Given the description of an element on the screen output the (x, y) to click on. 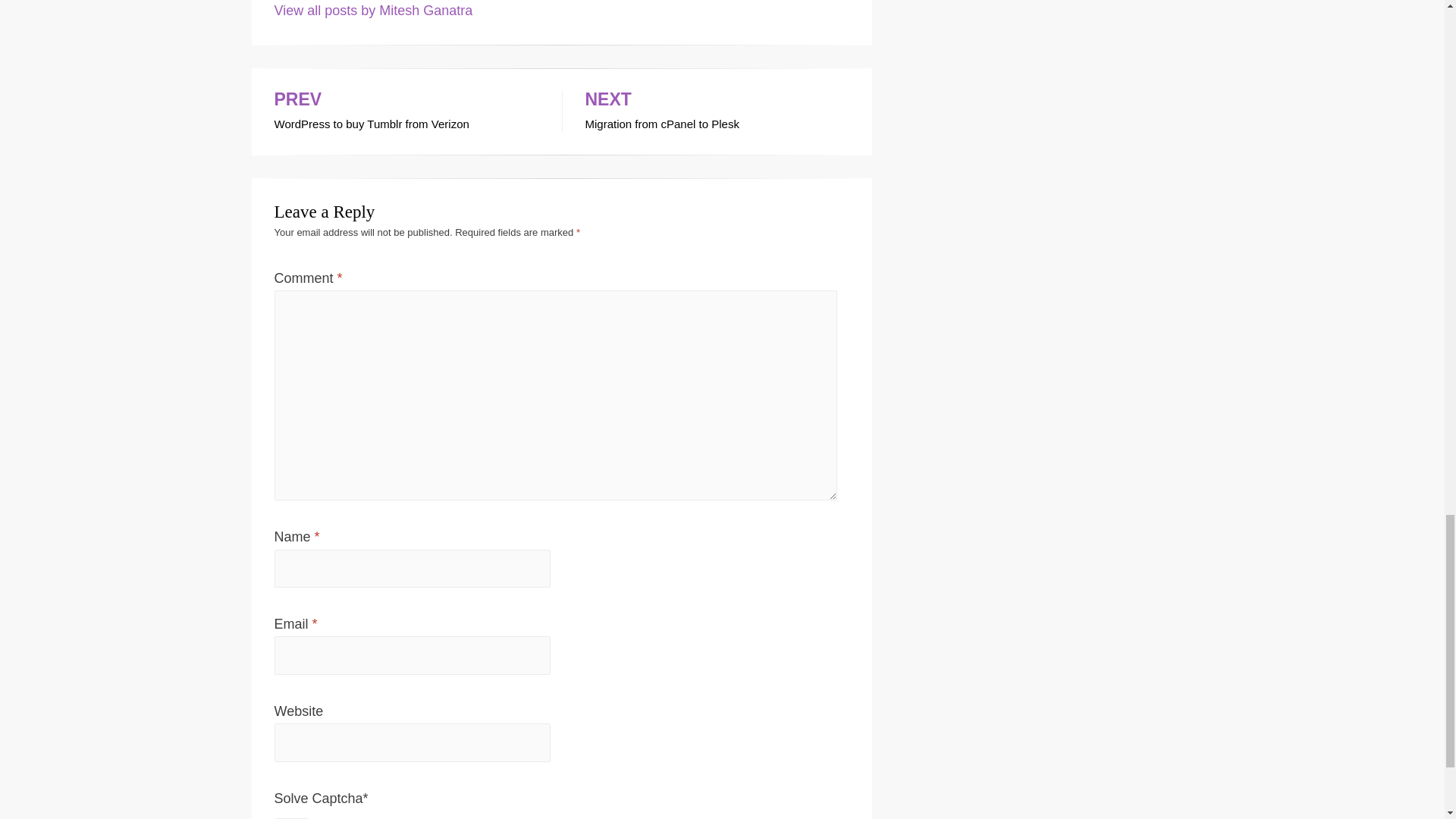
View all posts by Mitesh Ganatra (374, 10)
